Given the description of an element on the screen output the (x, y) to click on. 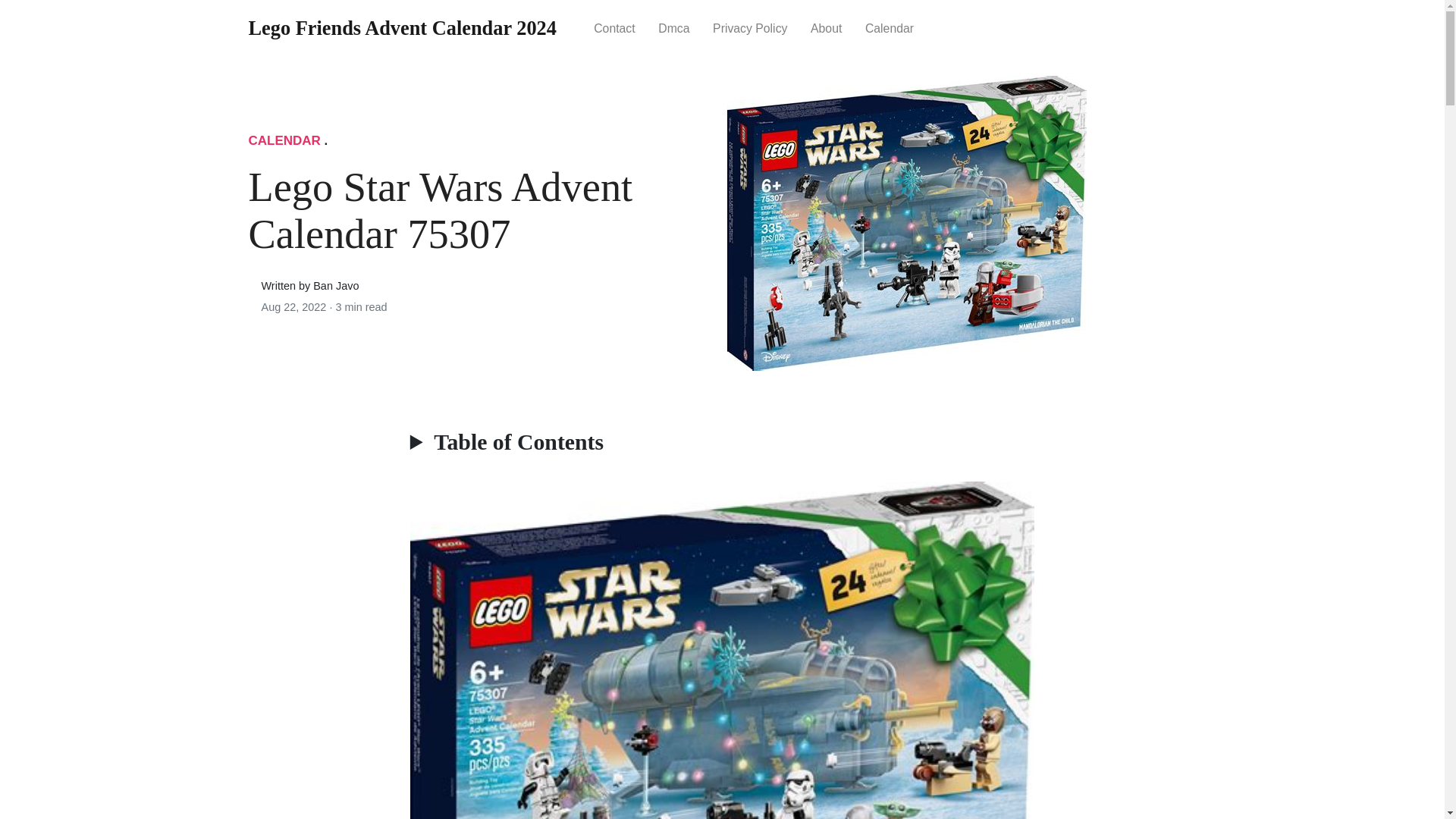
Dmca (673, 27)
CALENDAR (284, 140)
Calendar (889, 27)
calendar (889, 27)
CALENDAR (284, 140)
About (826, 27)
Privacy Policy (750, 27)
Contact (614, 27)
Lego Friends Advent Calendar 2024 (402, 28)
